Given the description of an element on the screen output the (x, y) to click on. 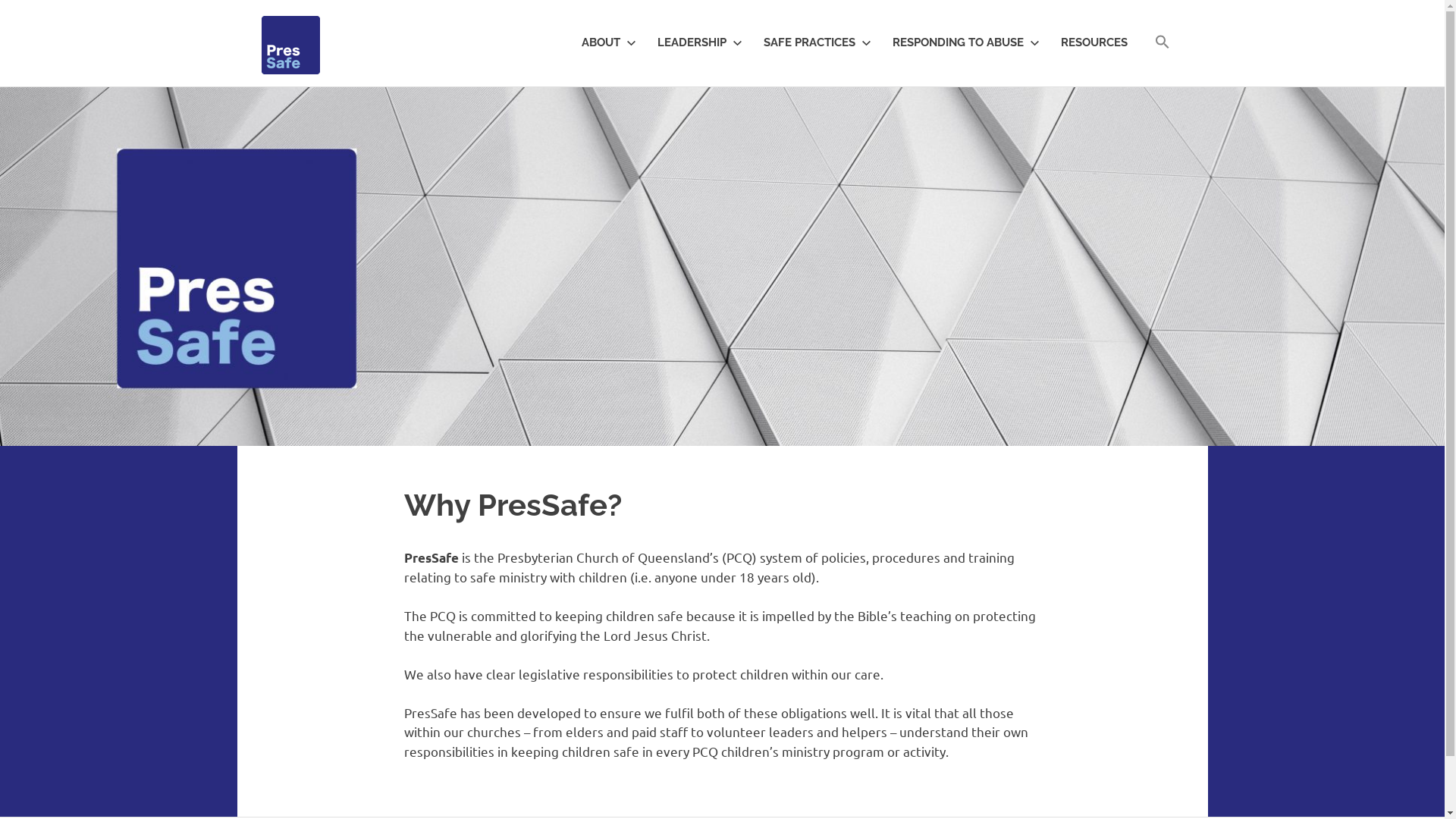
SAFE PRACTICES Element type: text (813, 42)
ABOUT Element type: text (605, 42)
LEADERSHIP Element type: text (696, 42)
RESPONDING TO ABUSE Element type: text (962, 42)
RESOURCES Element type: text (1093, 42)
